Given the description of an element on the screen output the (x, y) to click on. 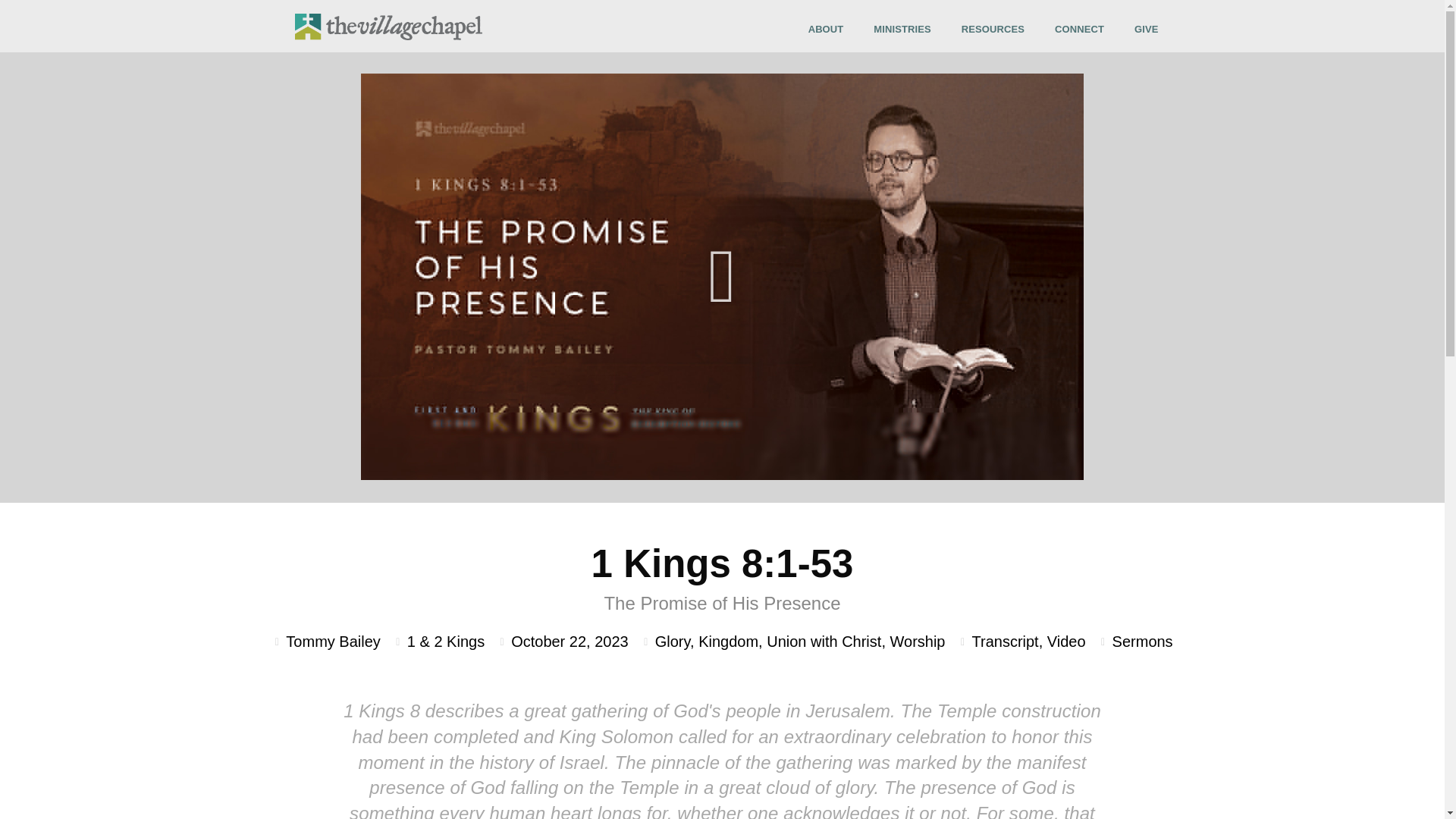
ABOUT (829, 29)
MINISTRIES (905, 29)
RESOURCES (996, 29)
